Given the description of an element on the screen output the (x, y) to click on. 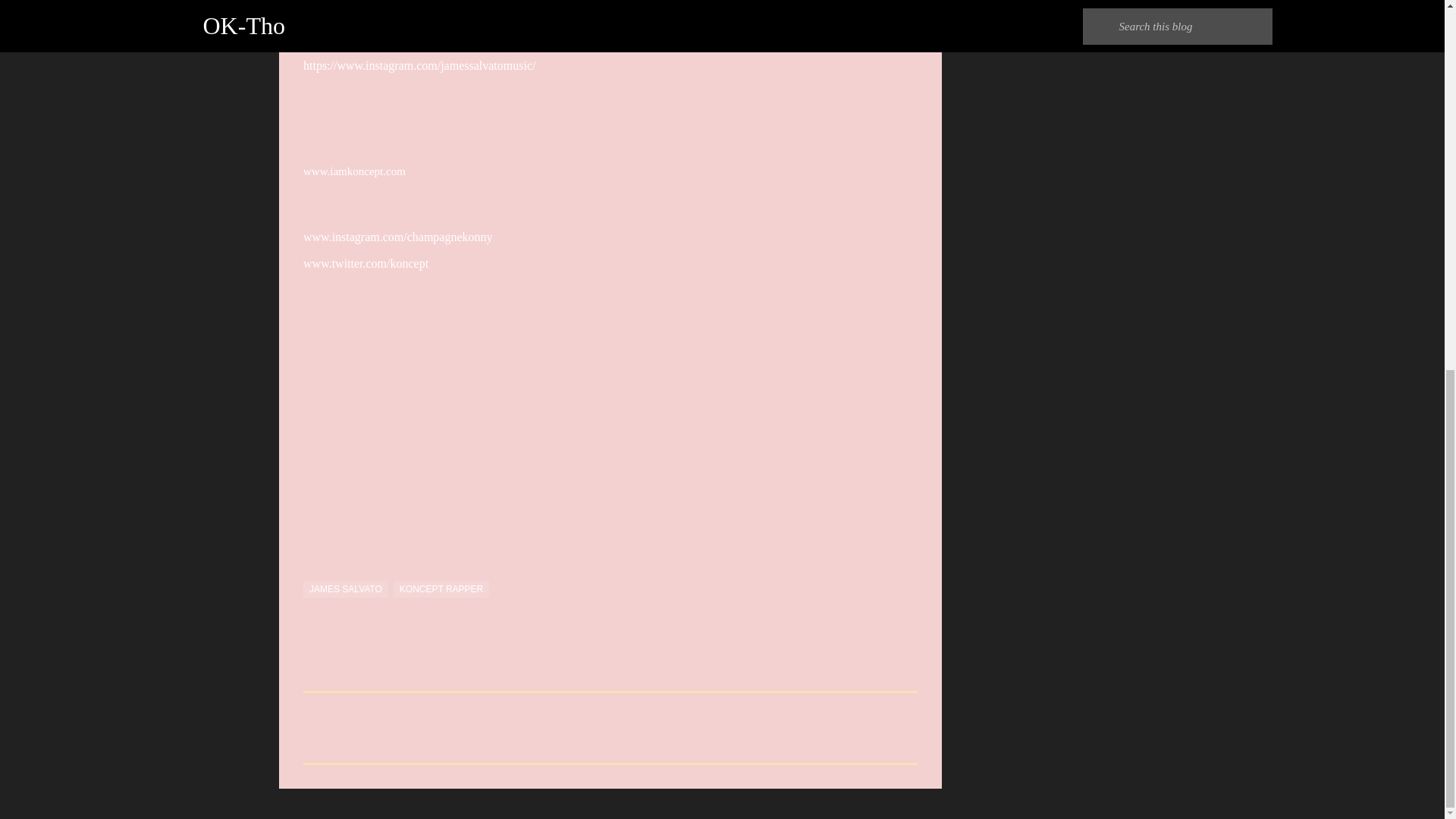
KONCEPT RAPPER (441, 588)
www.iamkoncept.com (354, 171)
JAMES SALVATO (345, 588)
